Given the description of an element on the screen output the (x, y) to click on. 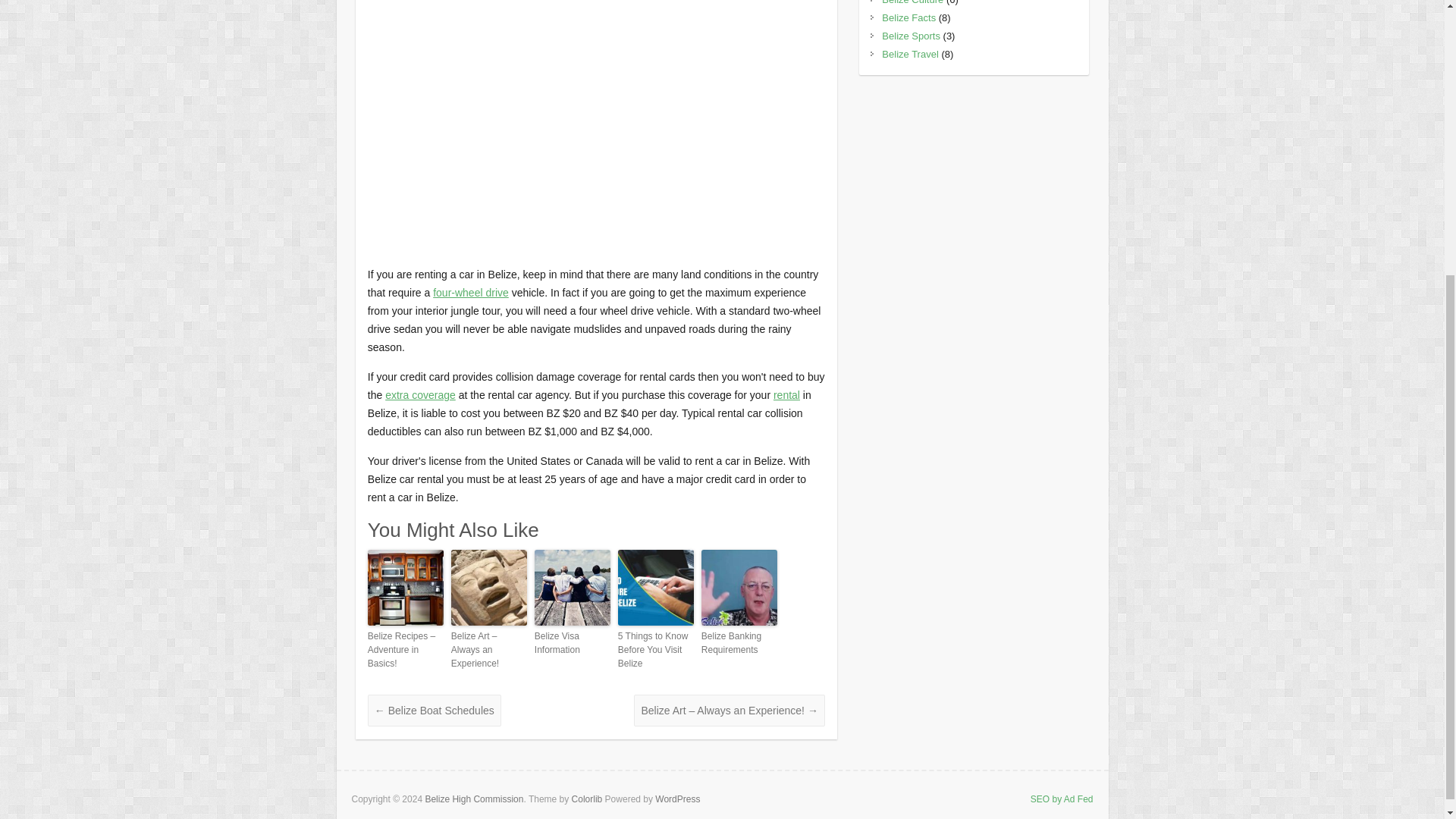
Colorlib (587, 798)
WordPress (677, 798)
WordPress (677, 798)
Belize Banking Requirements (739, 642)
four-wheel drive (470, 292)
rental (786, 395)
Belize Culture (912, 2)
rental (786, 395)
Belize Travel (909, 53)
extra coverage (420, 395)
extra coverage (420, 395)
Belize Sports (911, 35)
Belize Facts (909, 17)
Belize High Commission (473, 798)
5 Things to Know Before You Visit Belize (655, 649)
